Given the description of an element on the screen output the (x, y) to click on. 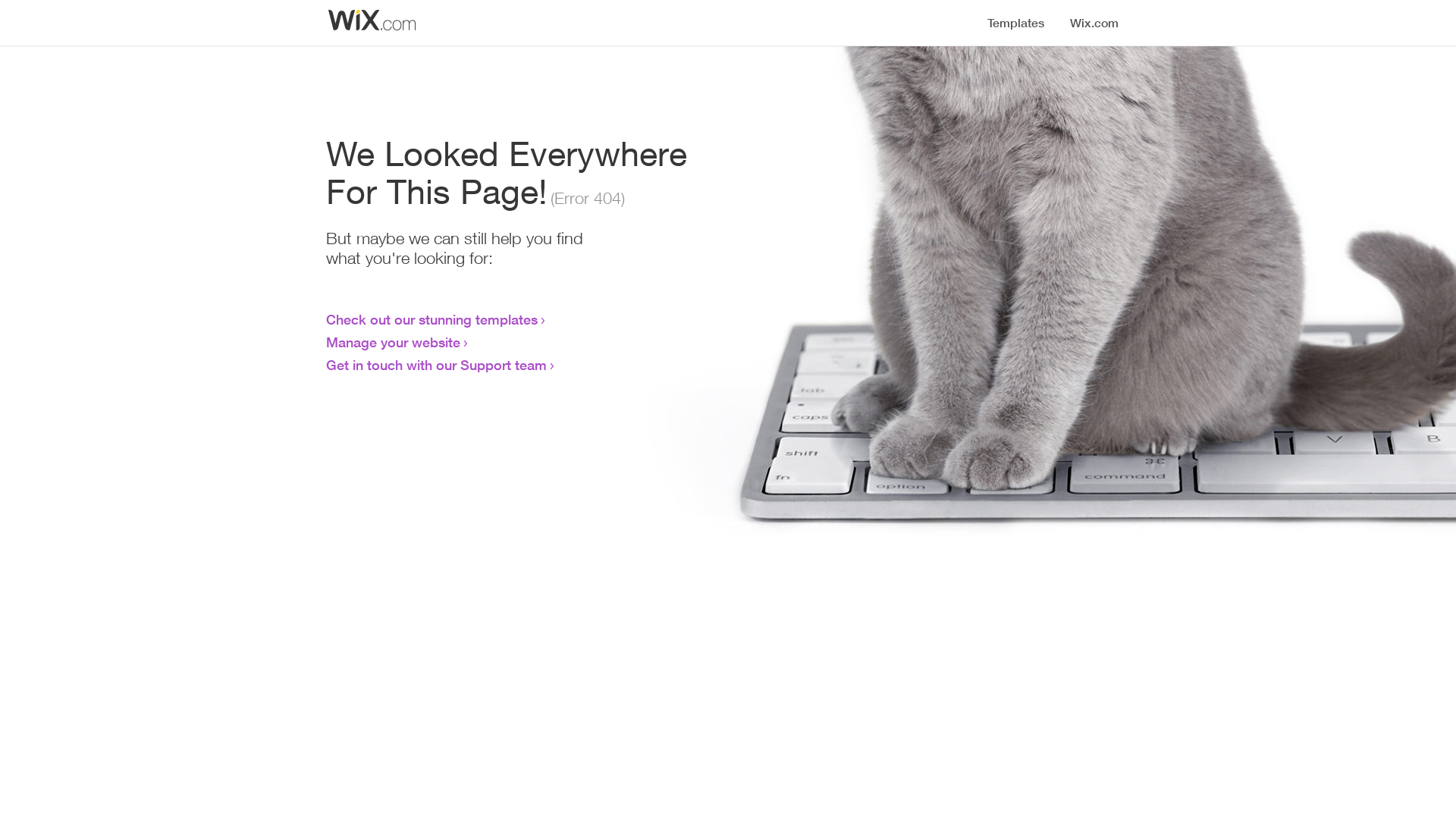
Get in touch with our Support team Element type: text (436, 364)
Check out our stunning templates Element type: text (431, 318)
Manage your website Element type: text (393, 341)
